Given the description of an element on the screen output the (x, y) to click on. 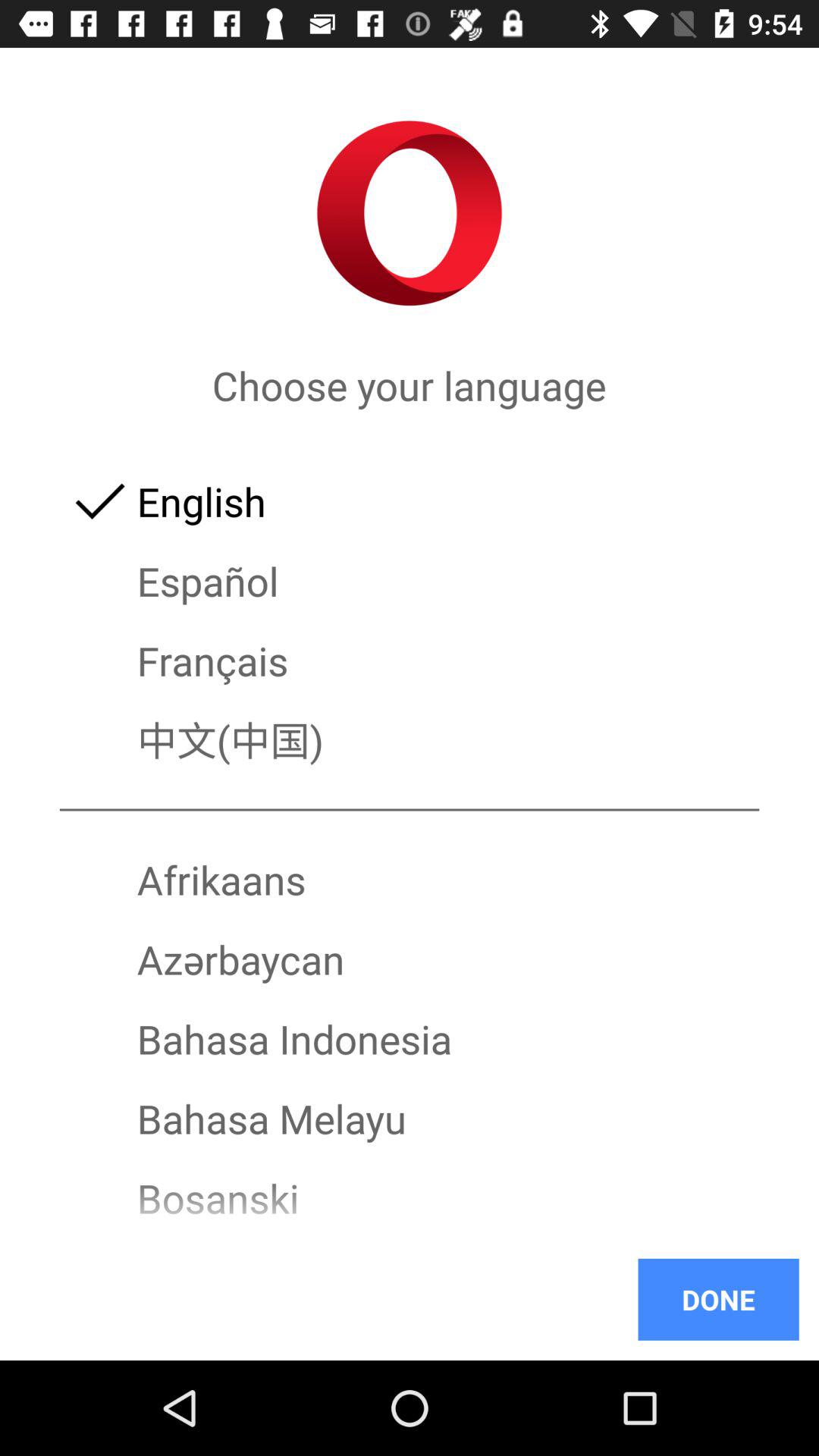
jump until the done item (718, 1299)
